Given the description of an element on the screen output the (x, y) to click on. 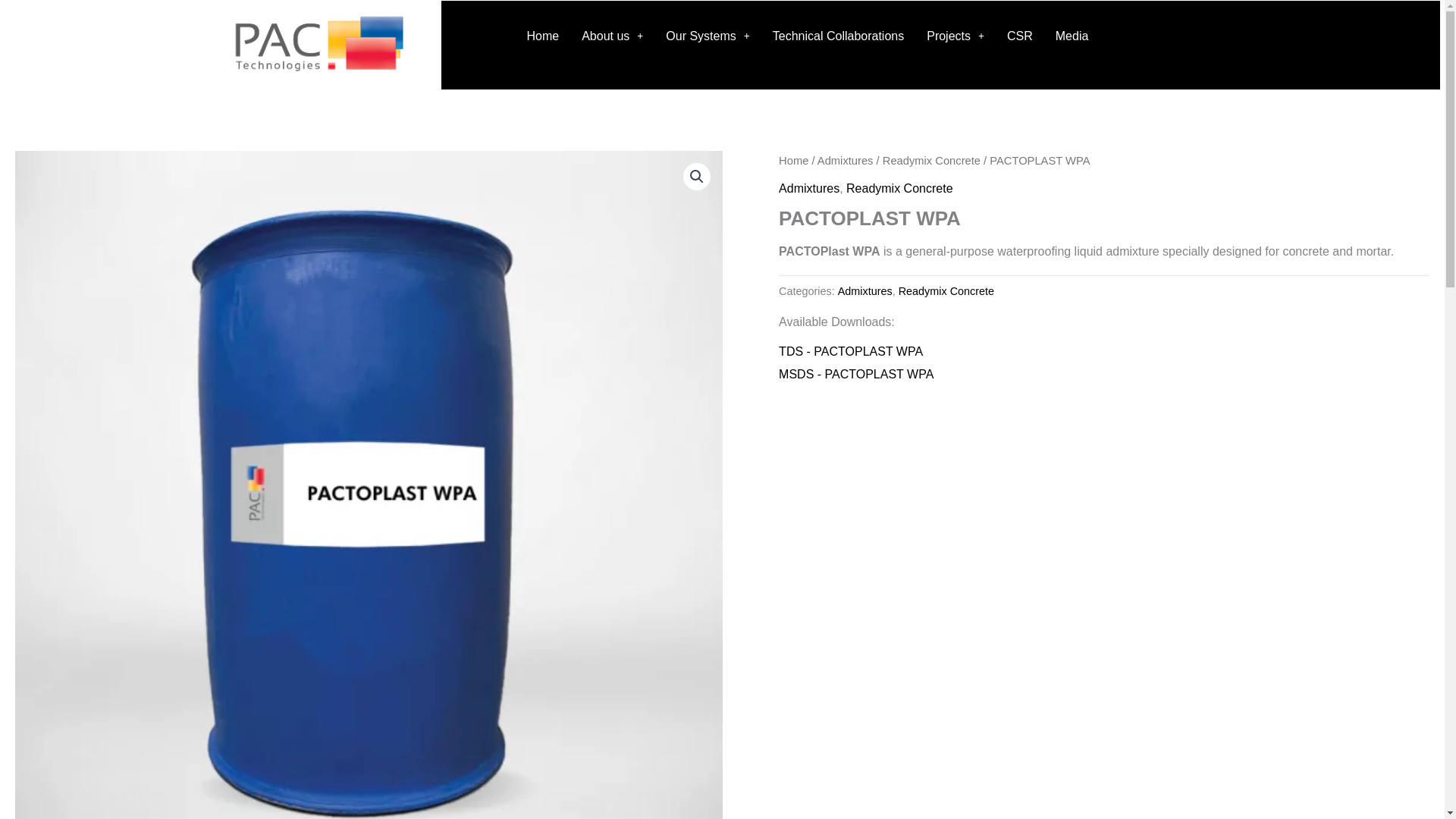
MSDS - PACTOPLAST WPA (855, 373)
Projects (955, 36)
Our Systems (706, 36)
Readymix Concrete (899, 187)
Technical Collaborations (838, 36)
Admixtures (809, 187)
Home (542, 36)
About us (611, 36)
Readymix Concrete (930, 160)
Readymix Concrete (946, 291)
Media (1071, 36)
Admixtures (844, 160)
Home (793, 160)
TDS - PACTOPLAST WPA (850, 350)
